Given the description of an element on the screen output the (x, y) to click on. 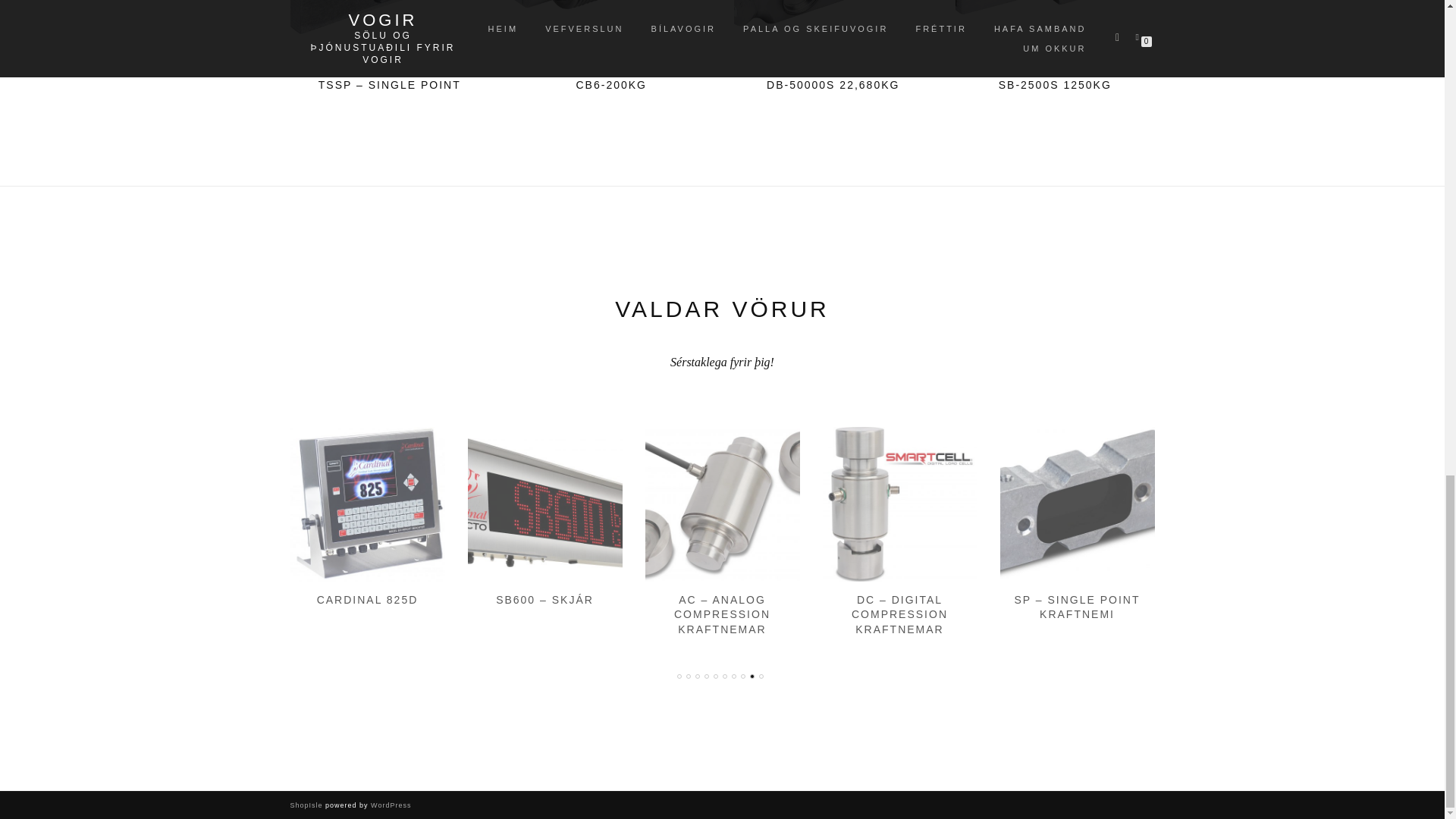
TSP-5KG-1024x835 (389, 32)
DB-75000S-1024x835 (832, 32)
SB25000S-kraftnemi (1054, 32)
CB6-1024x835 (611, 32)
